Given the description of an element on the screen output the (x, y) to click on. 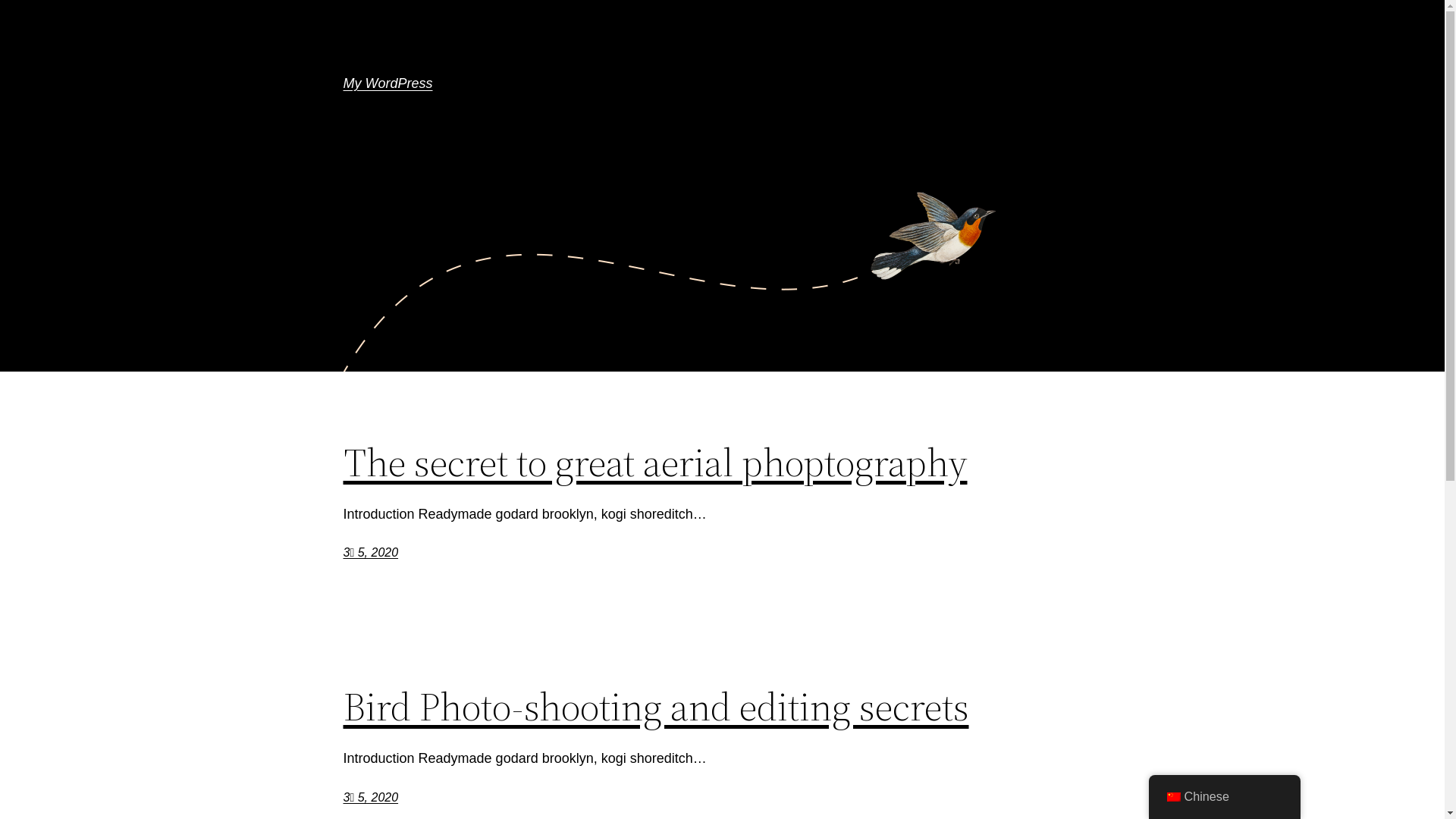
Chinese Element type: text (1223, 796)
Chinese Element type: hover (1172, 796)
Bird Photo-shooting and editing secrets Element type: text (655, 706)
My WordPress Element type: text (387, 83)
The secret to great aerial phoptography Element type: text (654, 462)
